Given the description of an element on the screen output the (x, y) to click on. 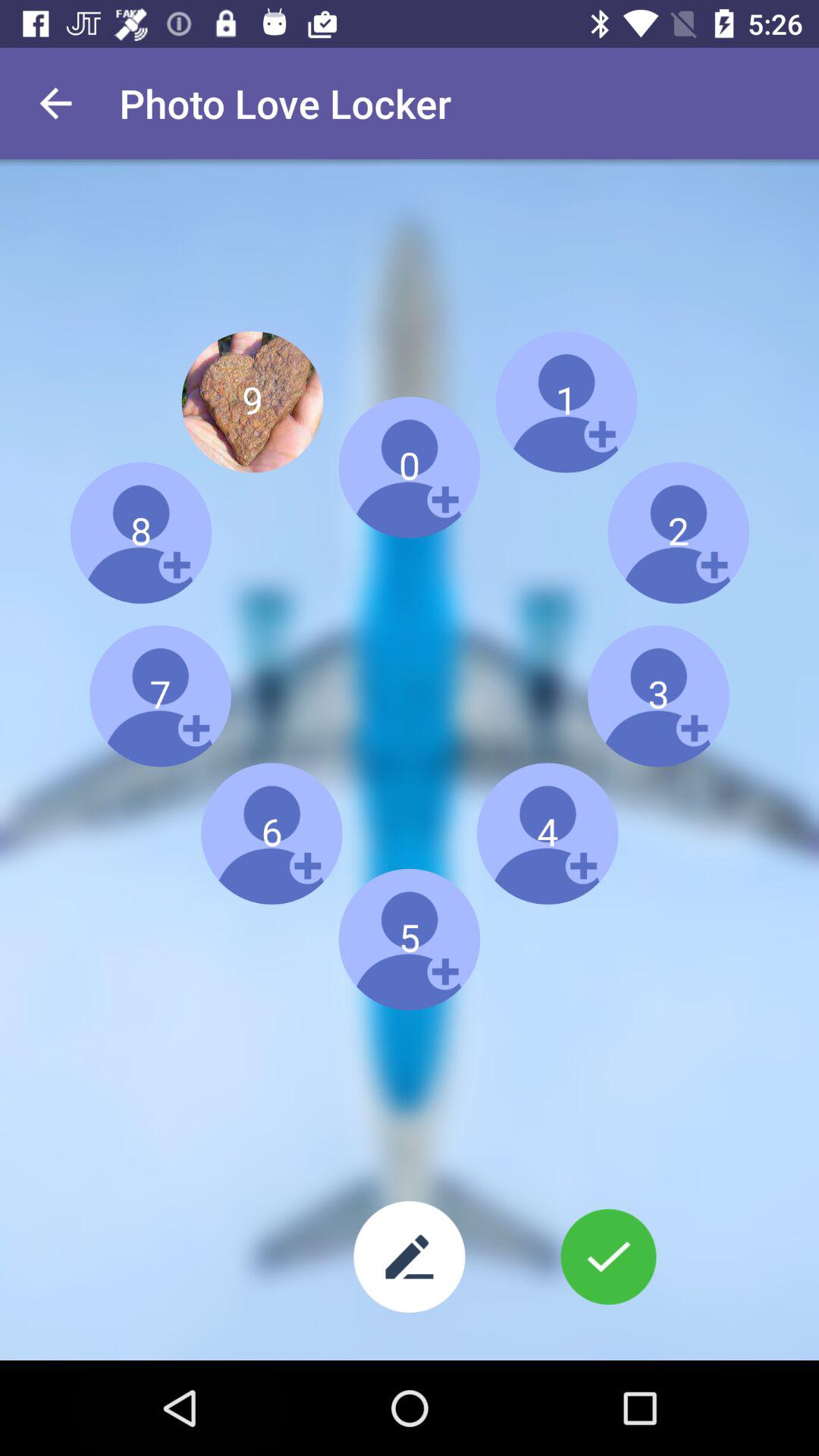
select photo (608, 1256)
